Given the description of an element on the screen output the (x, y) to click on. 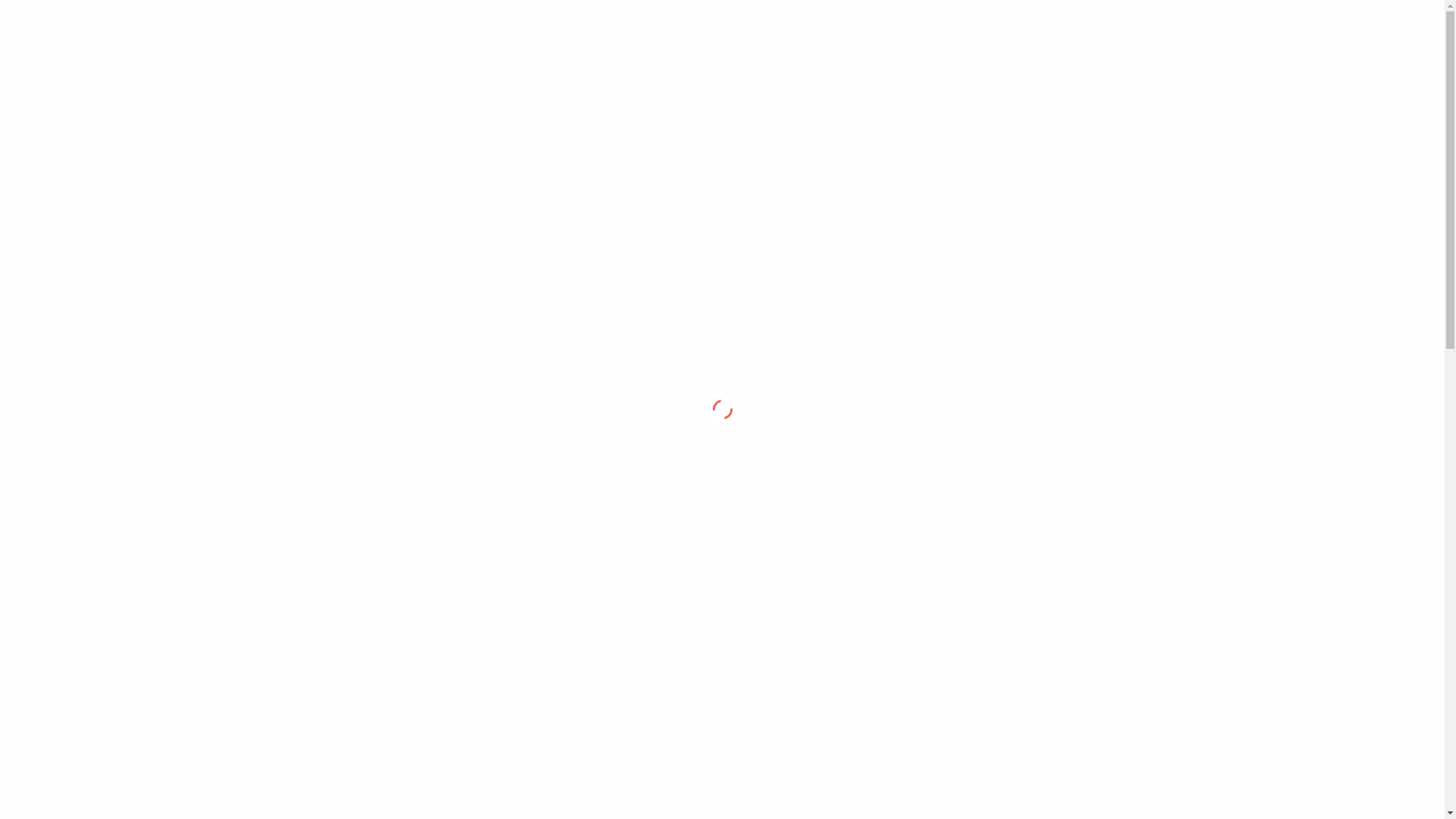
Skip to content Element type: text (1006, 9)
